Given the description of an element on the screen output the (x, y) to click on. 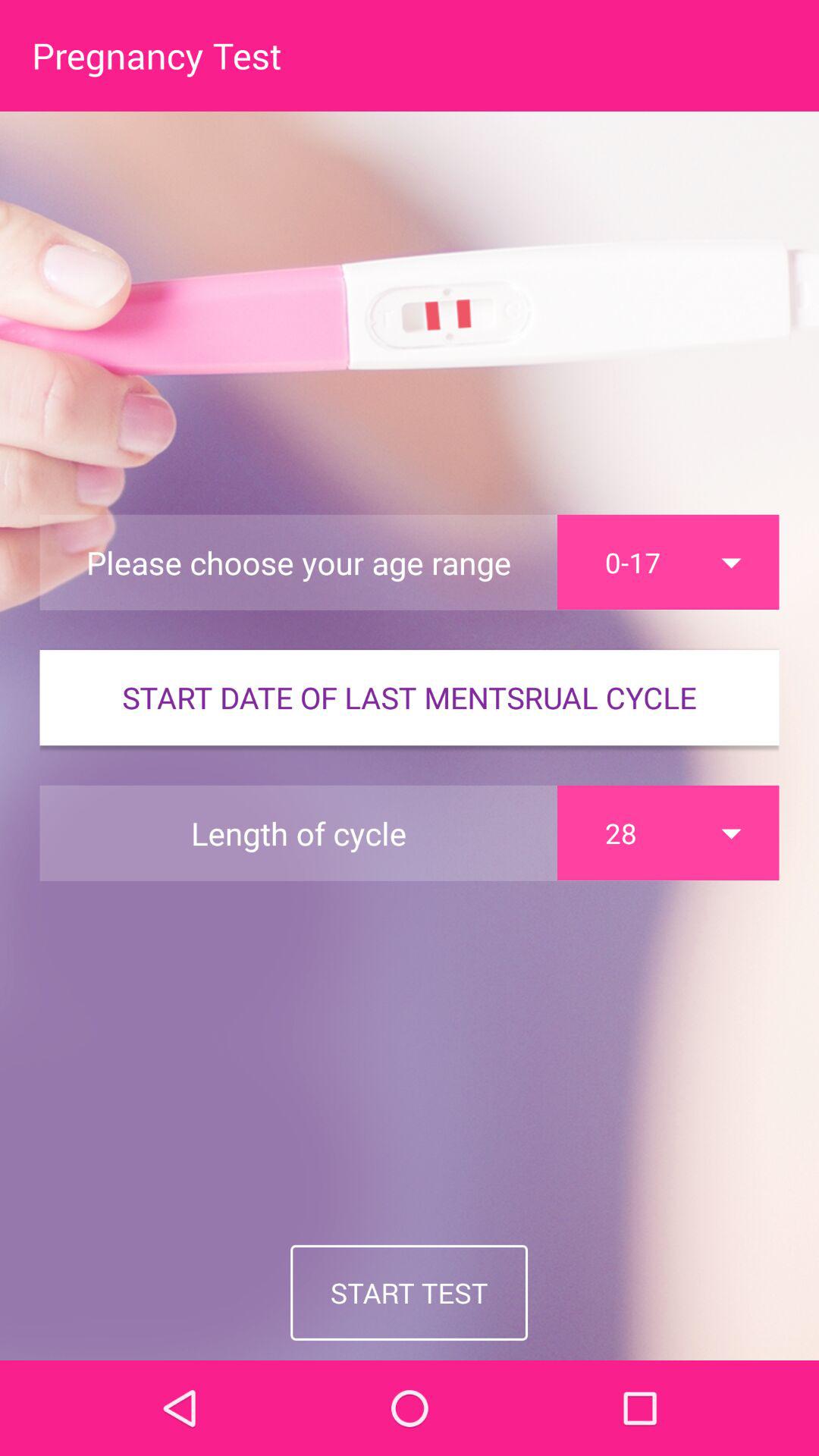
tap the icon next to length of cycle icon (668, 832)
